Given the description of an element on the screen output the (x, y) to click on. 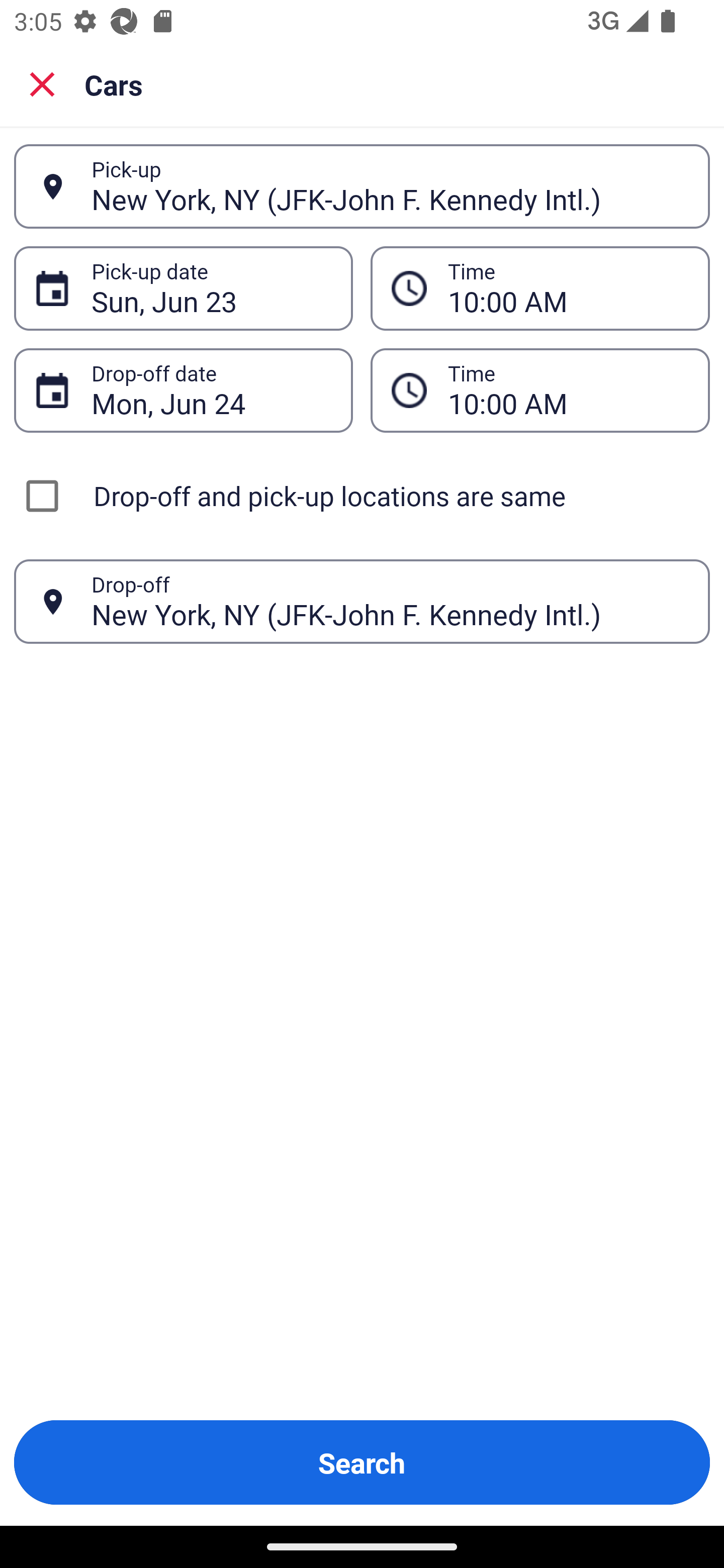
Close search screen (41, 83)
New York, NY (JFK-John F. Kennedy Intl.) Pick-up (361, 186)
New York, NY (JFK-John F. Kennedy Intl.) (389, 186)
Sun, Jun 23 Pick-up date (183, 288)
10:00 AM (540, 288)
Sun, Jun 23 (211, 288)
10:00 AM (568, 288)
Mon, Jun 24 Drop-off date (183, 390)
10:00 AM (540, 390)
Mon, Jun 24 (211, 390)
10:00 AM (568, 390)
Drop-off and pick-up locations are same (361, 495)
New York, NY (JFK-John F. Kennedy Intl.) Drop-off (361, 601)
New York, NY (JFK-John F. Kennedy Intl.) (389, 601)
Search Button Search (361, 1462)
